Given the description of an element on the screen output the (x, y) to click on. 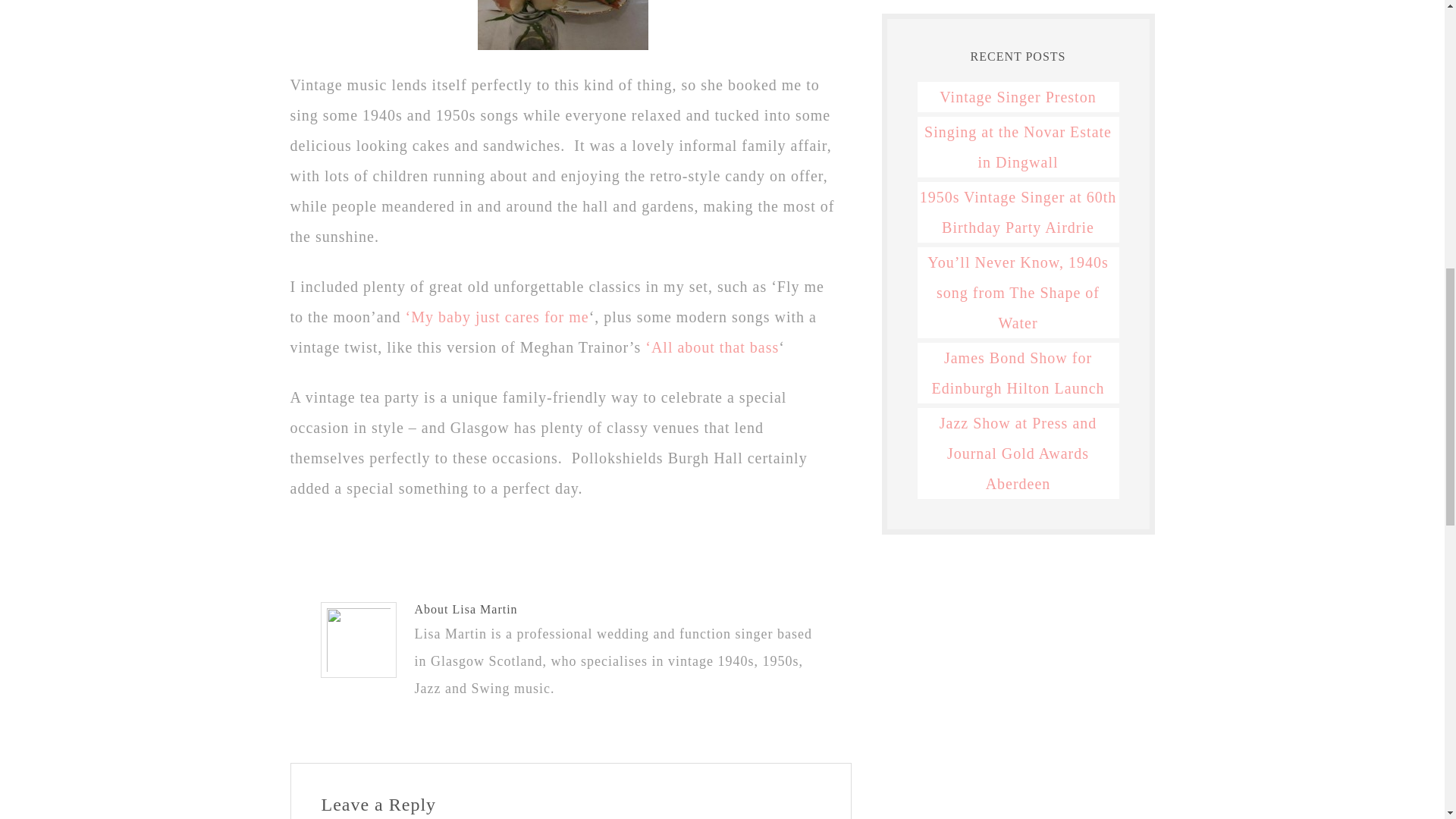
Vintage Singer Preston (1017, 96)
1950s Vintage Singer at 60th Birthday Party Airdrie (1018, 212)
James Bond Show for Edinburgh Hilton Launch (1017, 372)
Singing at the Novar Estate in Dingwall (1018, 146)
Jazz Show at Press and Journal Gold Awards Aberdeen (1018, 453)
